Given the description of an element on the screen output the (x, y) to click on. 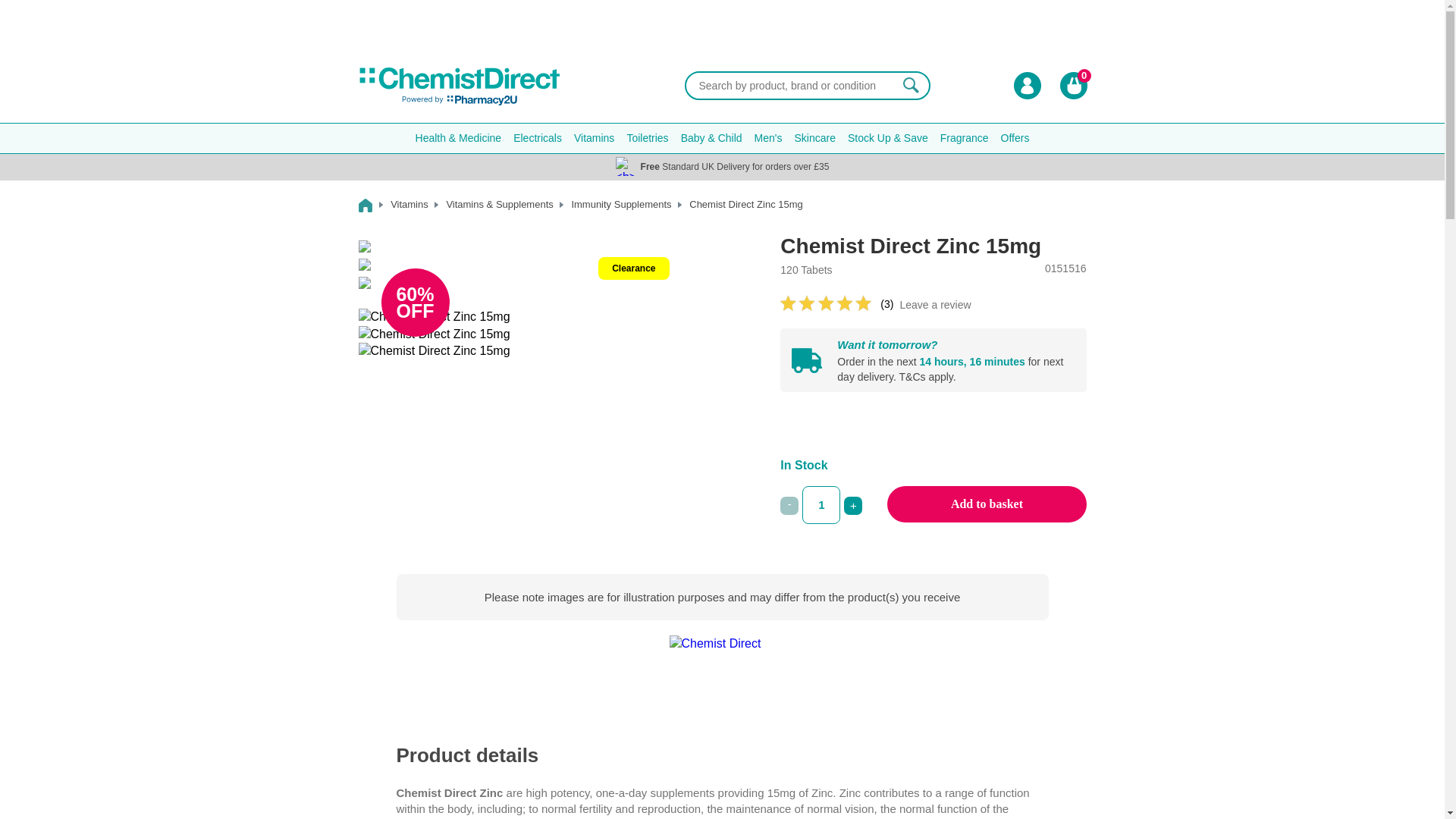
Immunity Supplements (627, 205)
Toiletries (647, 138)
Home (372, 205)
Chemist Direct Zinc 15mg (363, 246)
Vitamins (593, 138)
Fragrance (964, 138)
Electricals (536, 138)
Fragrance (964, 138)
Chemist Direct Zinc 15mg (363, 282)
- (788, 505)
Immunity Supplements (627, 205)
Skincare (814, 138)
Offers (1014, 138)
Vitamins (417, 205)
Offers (1014, 138)
